Given the description of an element on the screen output the (x, y) to click on. 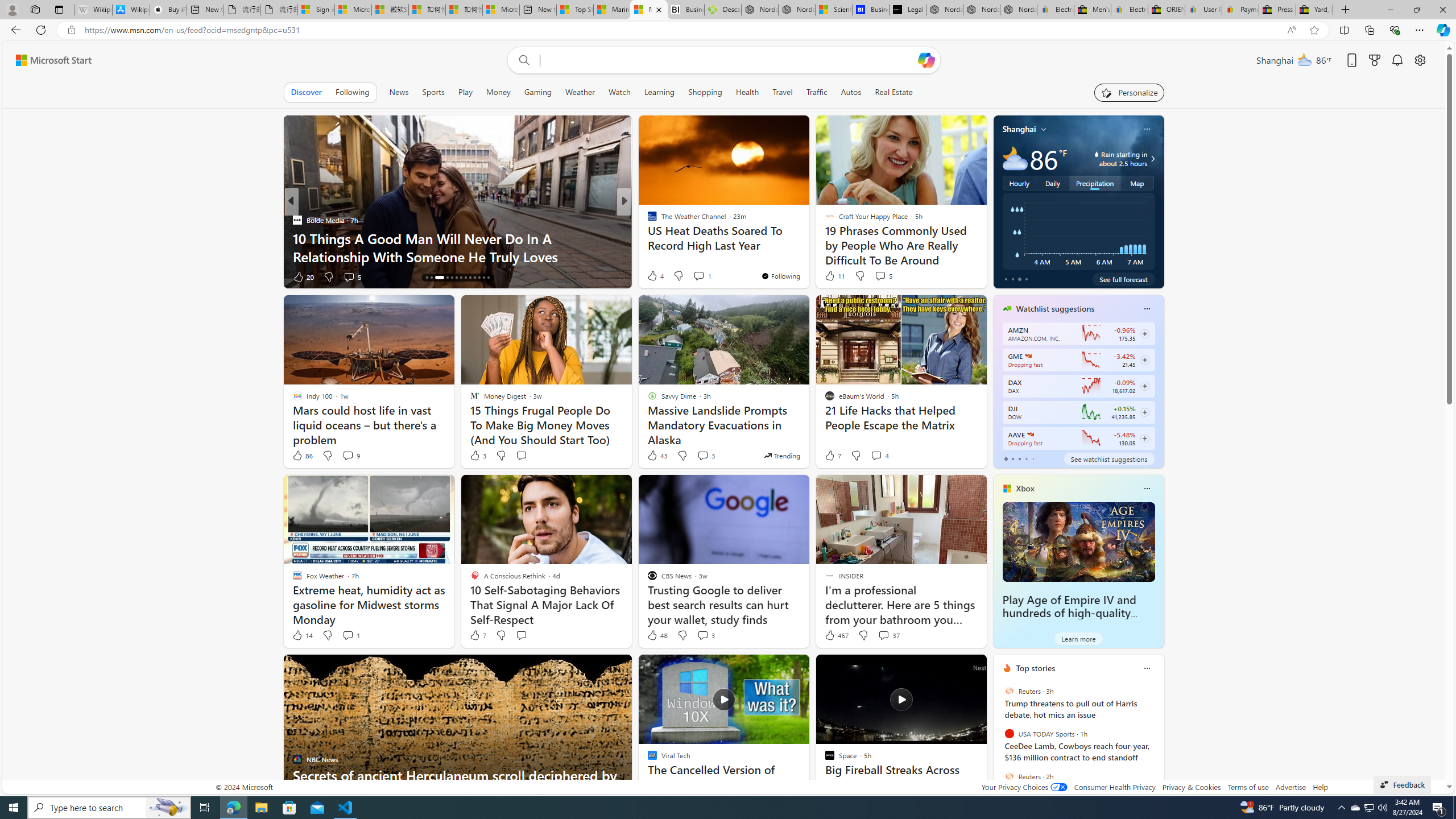
Sign in to your Microsoft account (315, 9)
Weather (580, 92)
4 AM 5 AM 6 AM 7 AM (1077, 231)
AutomationID: tab-14 (426, 277)
Health (746, 92)
View comments 3 Comment (703, 635)
See watchlist suggestions (1108, 459)
water-drop-icon (1096, 154)
Warship sinks after crash with unknown object (807, 256)
